Given the description of an element on the screen output the (x, y) to click on. 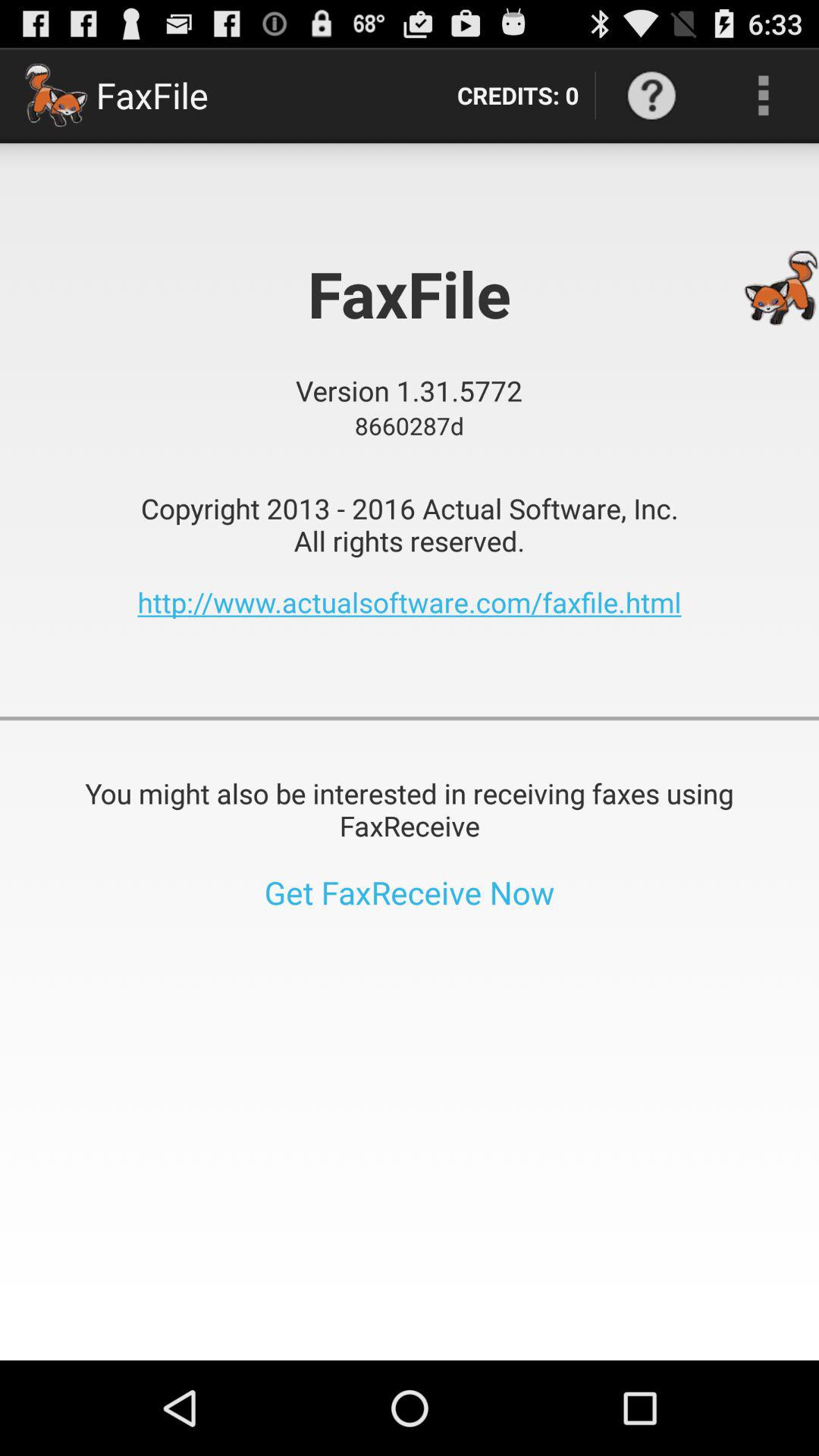
scroll to the credits: 0 (517, 95)
